Given the description of an element on the screen output the (x, y) to click on. 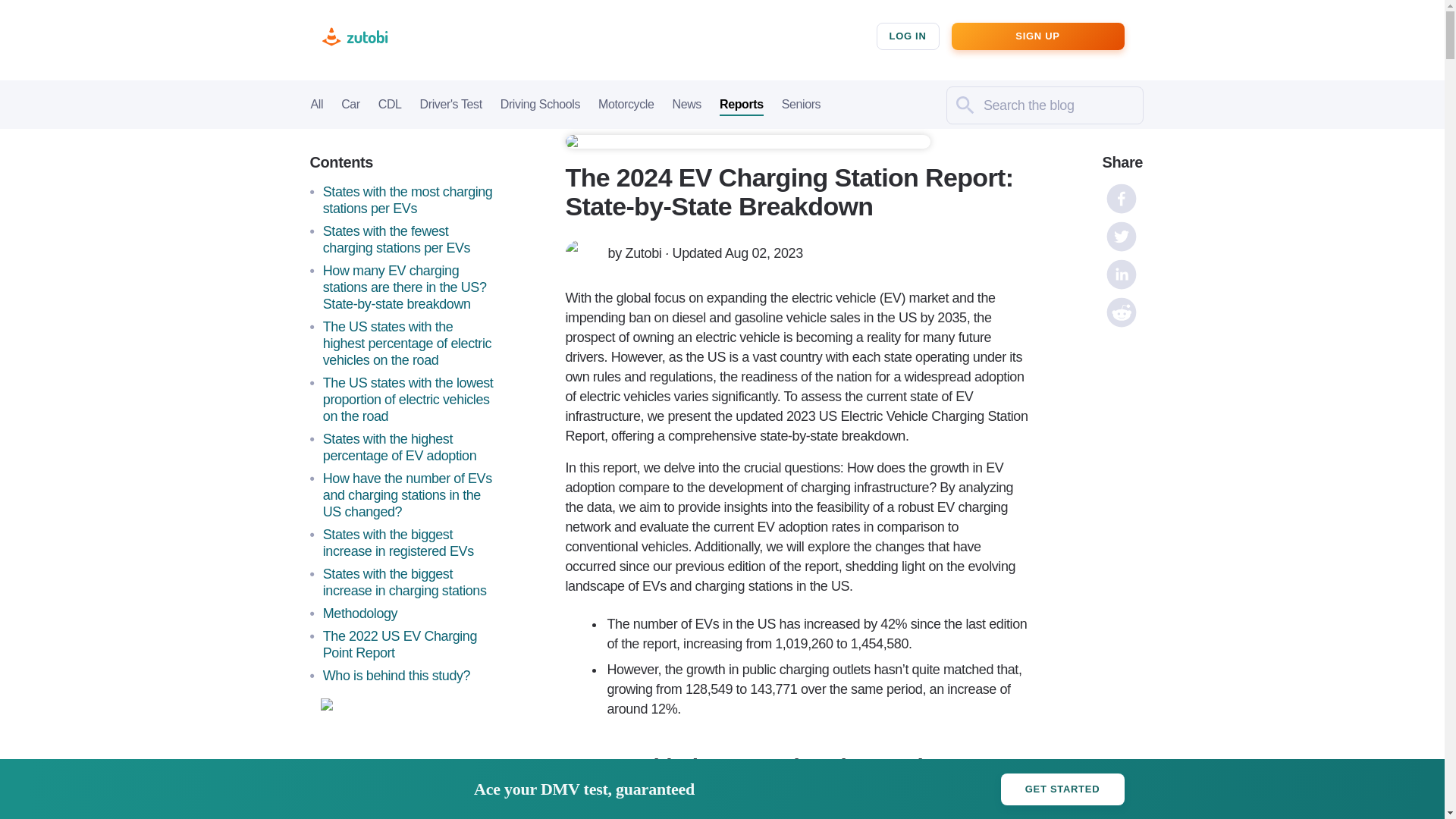
SIGN UP (1037, 36)
The 2022 US EV Charging Point Report (409, 644)
LOG IN (908, 36)
CDL (389, 106)
States with the most charging stations per EVs (409, 200)
States with the fewest charging stations per EVs (409, 239)
Seniors (801, 106)
Methodology (409, 613)
States with the biggest increase in registered EVs (409, 542)
